Given the description of an element on the screen output the (x, y) to click on. 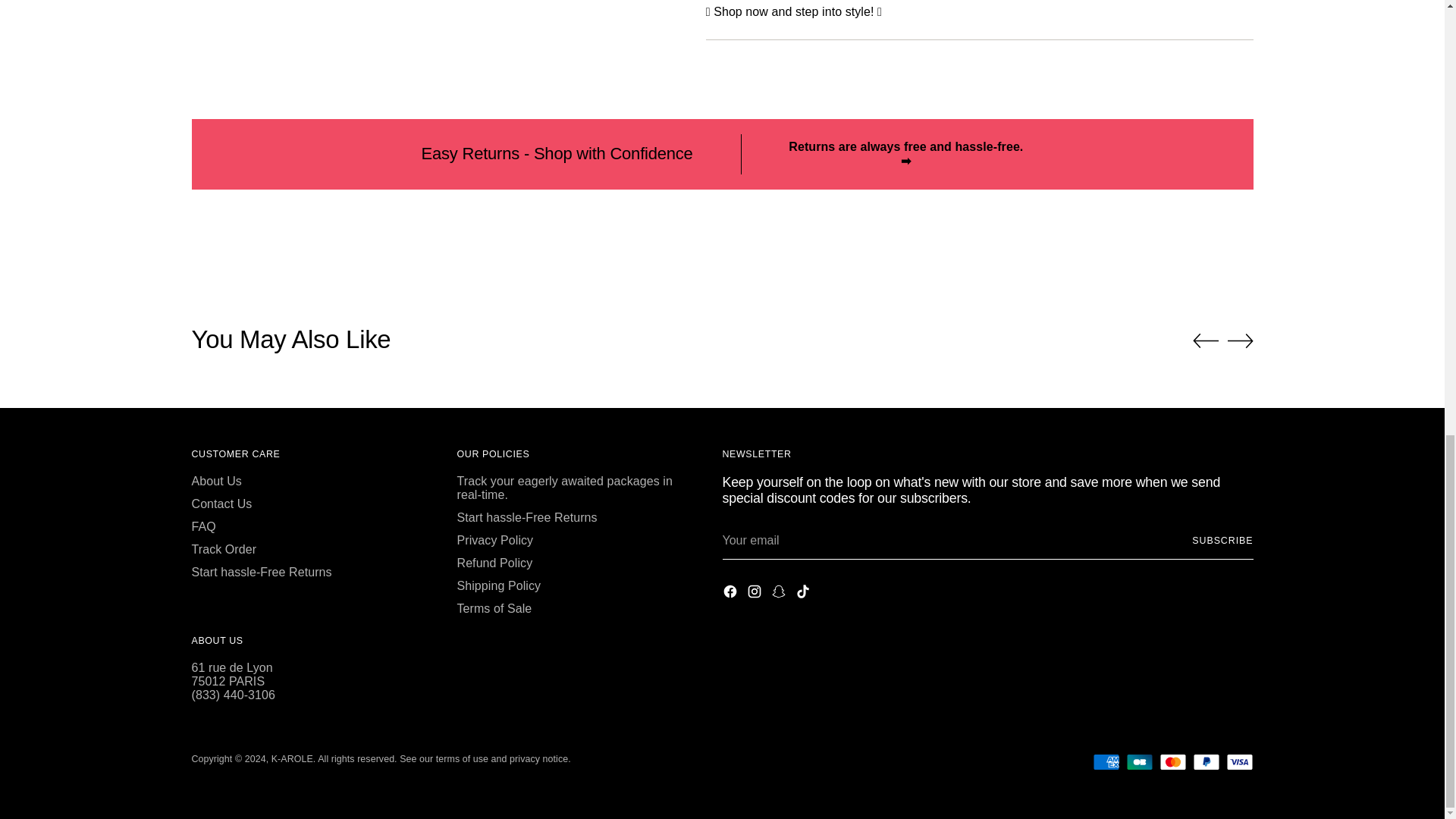
K-AROLE on Snapchat (779, 592)
K-AROLE on Instagram (754, 592)
K-AROLE on Tiktok (803, 592)
K-AROLE on Facebook (730, 592)
